Given the description of an element on the screen output the (x, y) to click on. 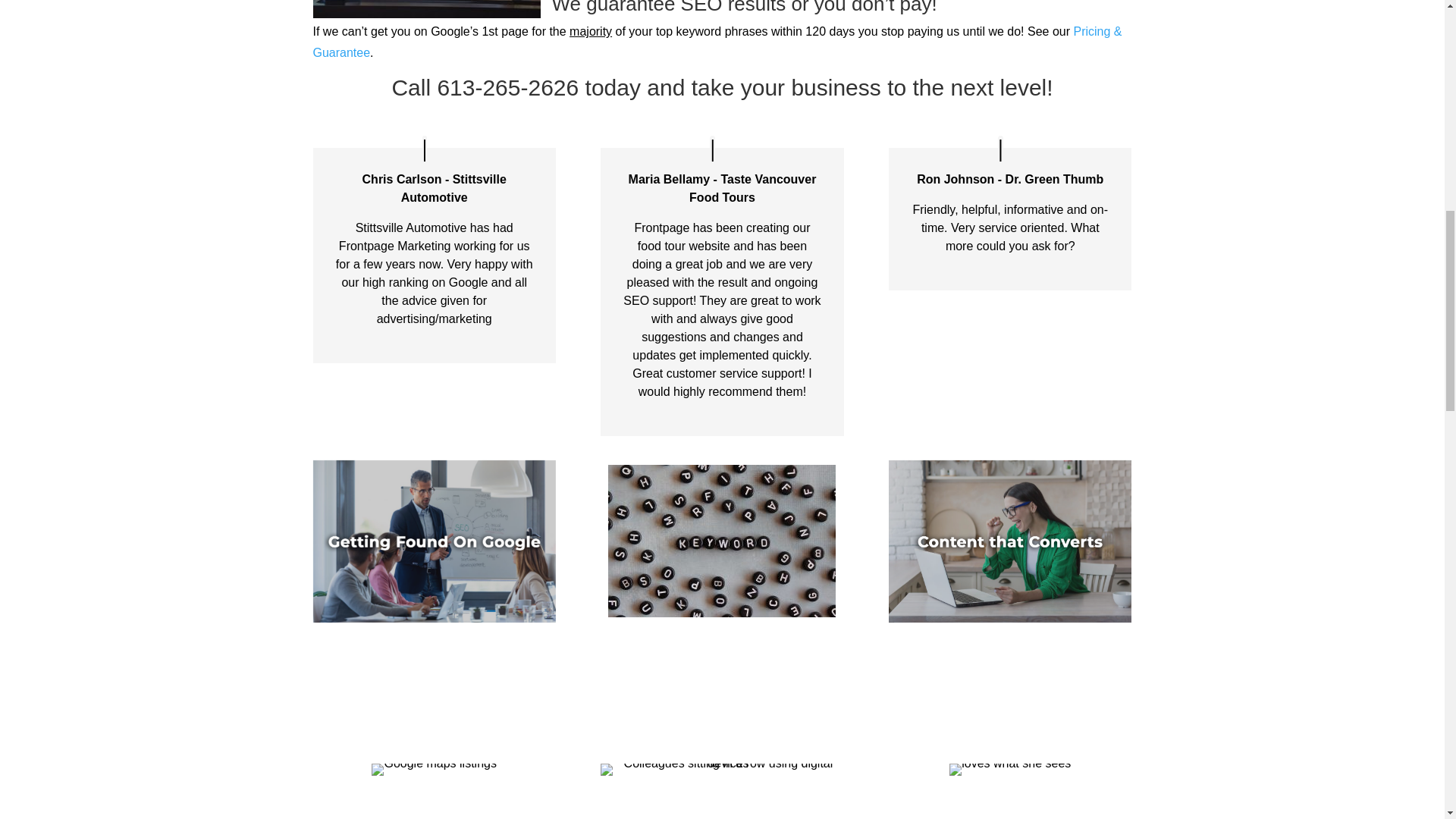
Learn More (434, 584)
